Given the description of an element on the screen output the (x, y) to click on. 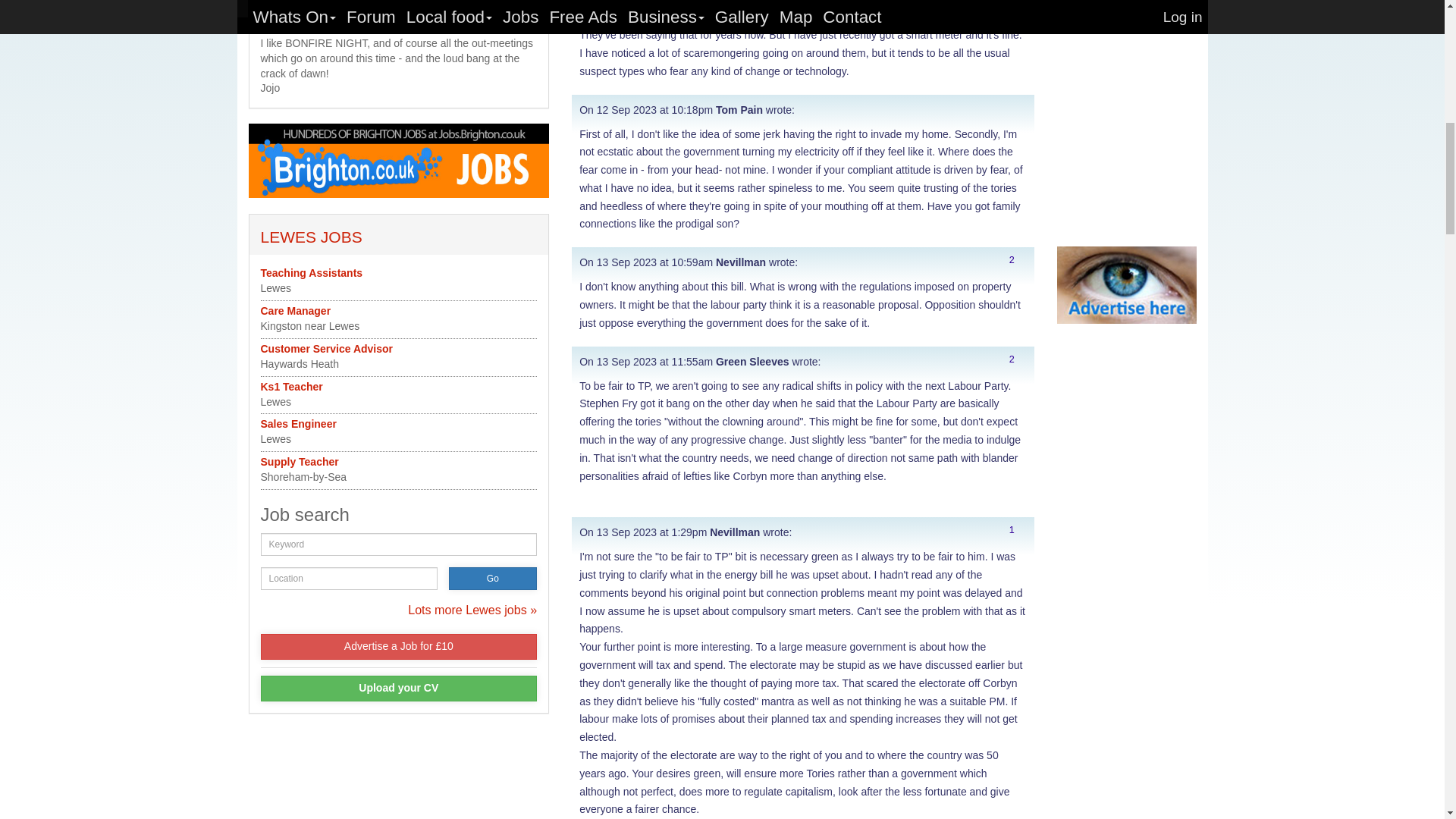
Go (492, 578)
View details of this job (299, 461)
View details of this job (326, 348)
View details of this job (295, 310)
View details of this job (291, 386)
View details of this job (311, 272)
View details of this job (298, 423)
